Given the description of an element on the screen output the (x, y) to click on. 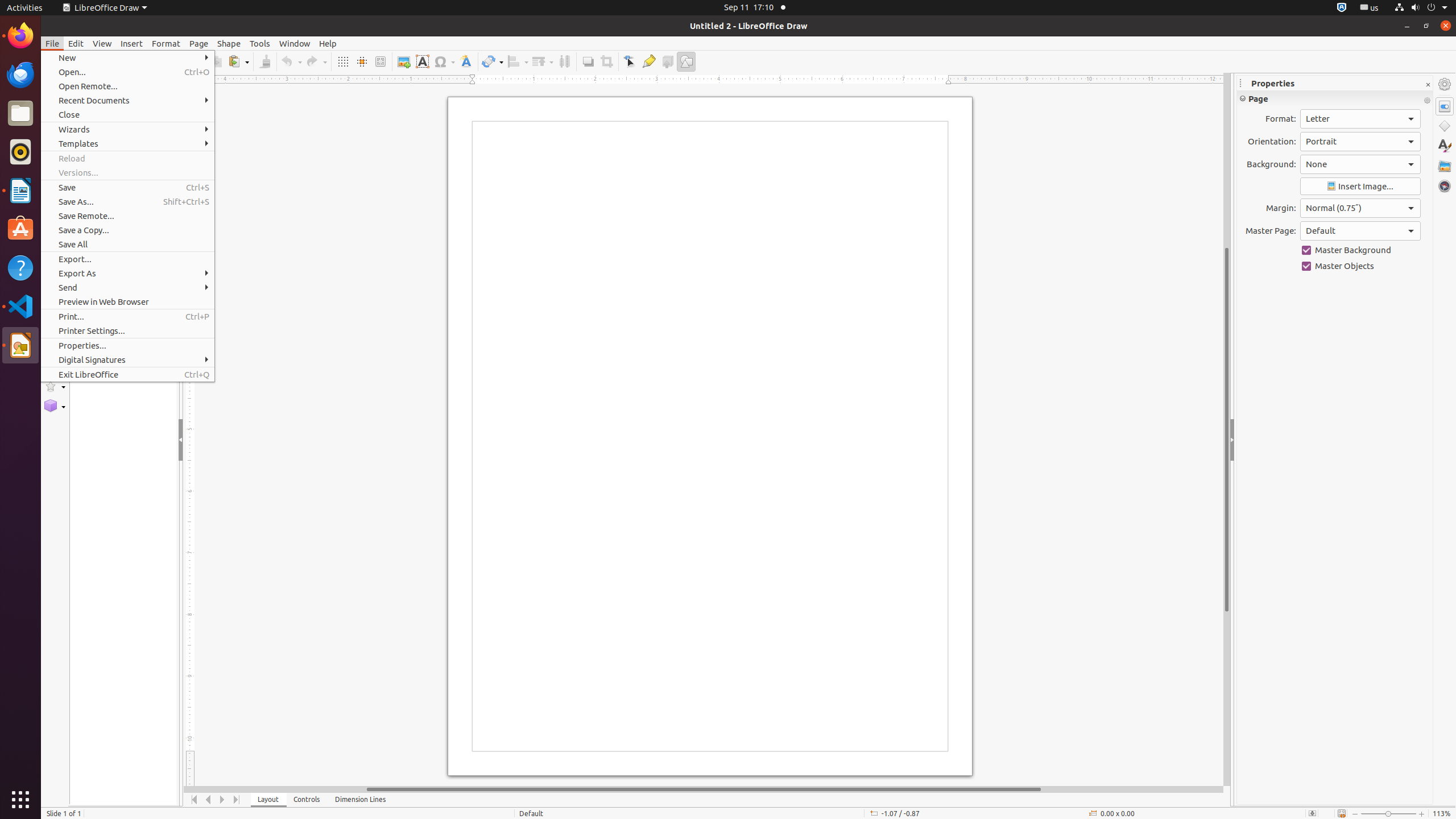
Move To Home Element type: push-button (194, 799)
Edit Points Element type: push-button (629, 61)
Image Element type: push-button (403, 61)
Versions... Element type: menu-item (127, 172)
